Given the description of an element on the screen output the (x, y) to click on. 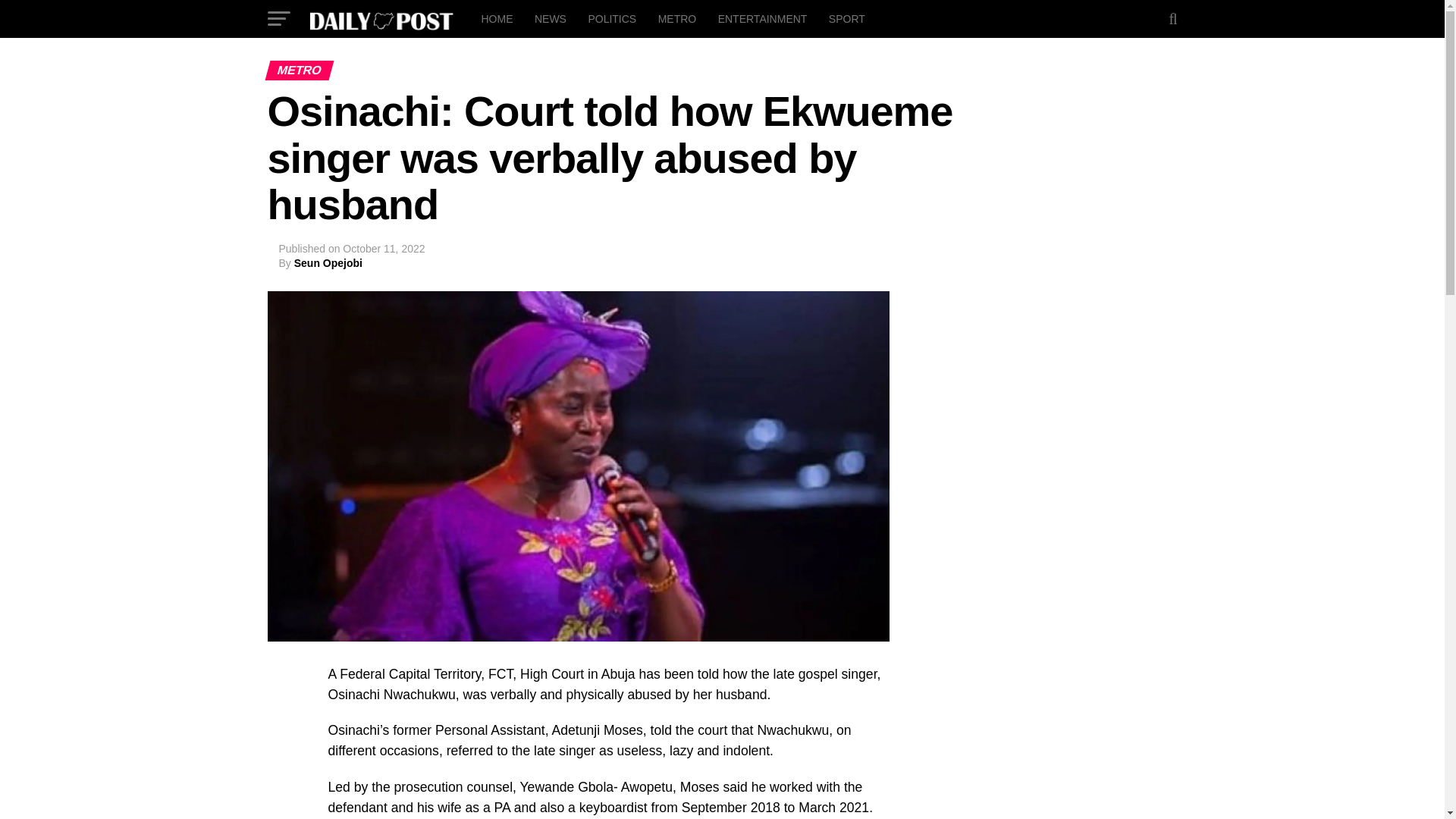
SPORT (847, 18)
METRO (677, 18)
Seun Opejobi (328, 263)
POLITICS (611, 18)
NEWS (550, 18)
ENTERTAINMENT (762, 18)
HOME (496, 18)
Posts by Seun Opejobi (328, 263)
